Given the description of an element on the screen output the (x, y) to click on. 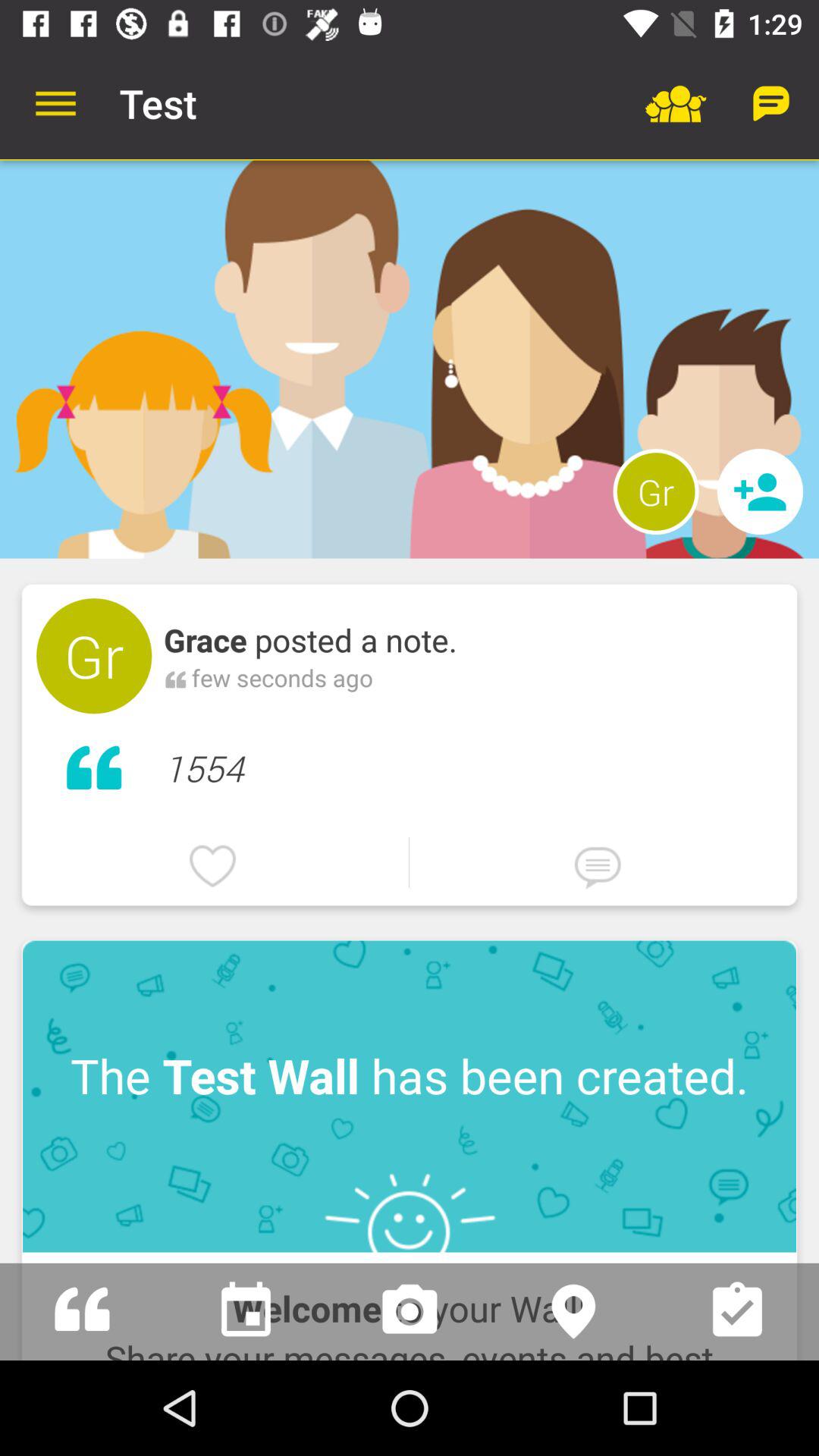
tap the icon below 1554 (216, 866)
